Given the description of an element on the screen output the (x, y) to click on. 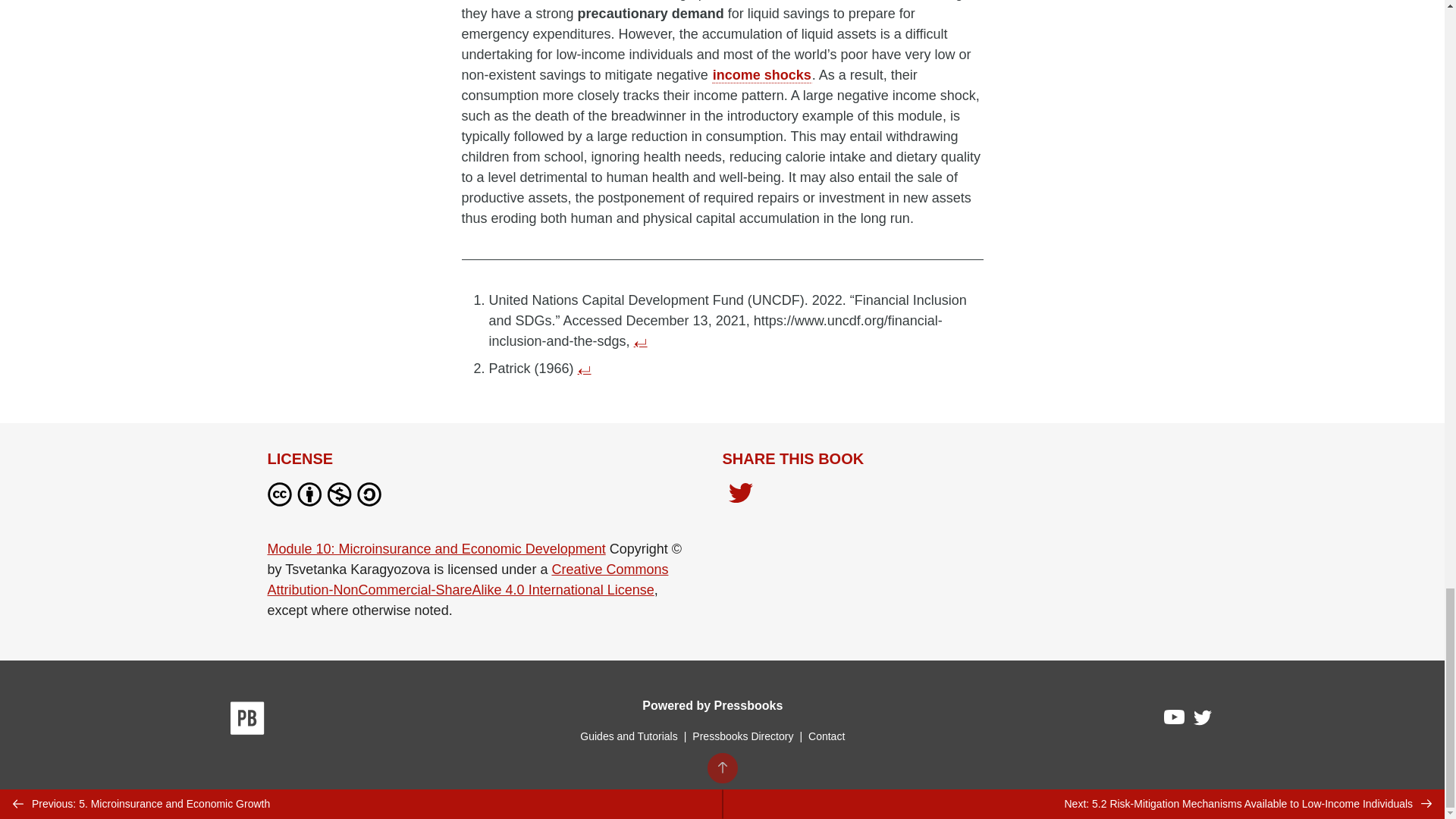
income shocks (761, 74)
Share on Twitter (740, 494)
Pressbooks on YouTube (1174, 721)
Share on Twitter (740, 496)
Pressbooks Directory (742, 736)
Powered by Pressbooks (712, 705)
Module 10: Microinsurance and Economic Development (435, 548)
Contact (826, 736)
Guides and Tutorials (627, 736)
